Given the description of an element on the screen output the (x, y) to click on. 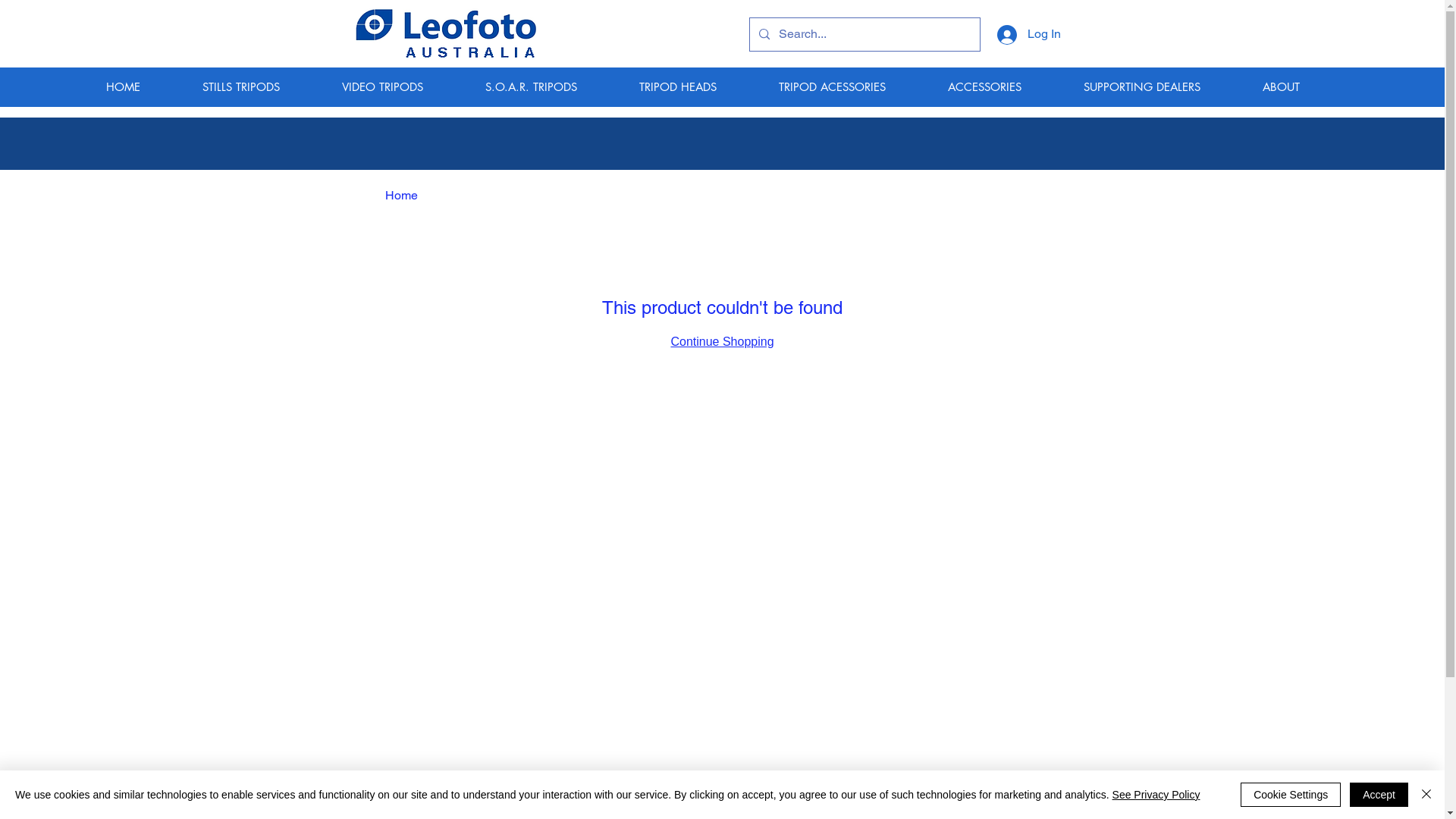
Home Element type: text (401, 195)
Continue Shopping Element type: text (721, 341)
HOME Element type: text (142, 86)
Cookie Settings Element type: text (1290, 794)
See Privacy Policy Element type: text (1156, 794)
Log In Element type: text (1027, 33)
SUPPORTING DEALERS Element type: text (1161, 86)
Accept Element type: text (1378, 794)
